Given the description of an element on the screen output the (x, y) to click on. 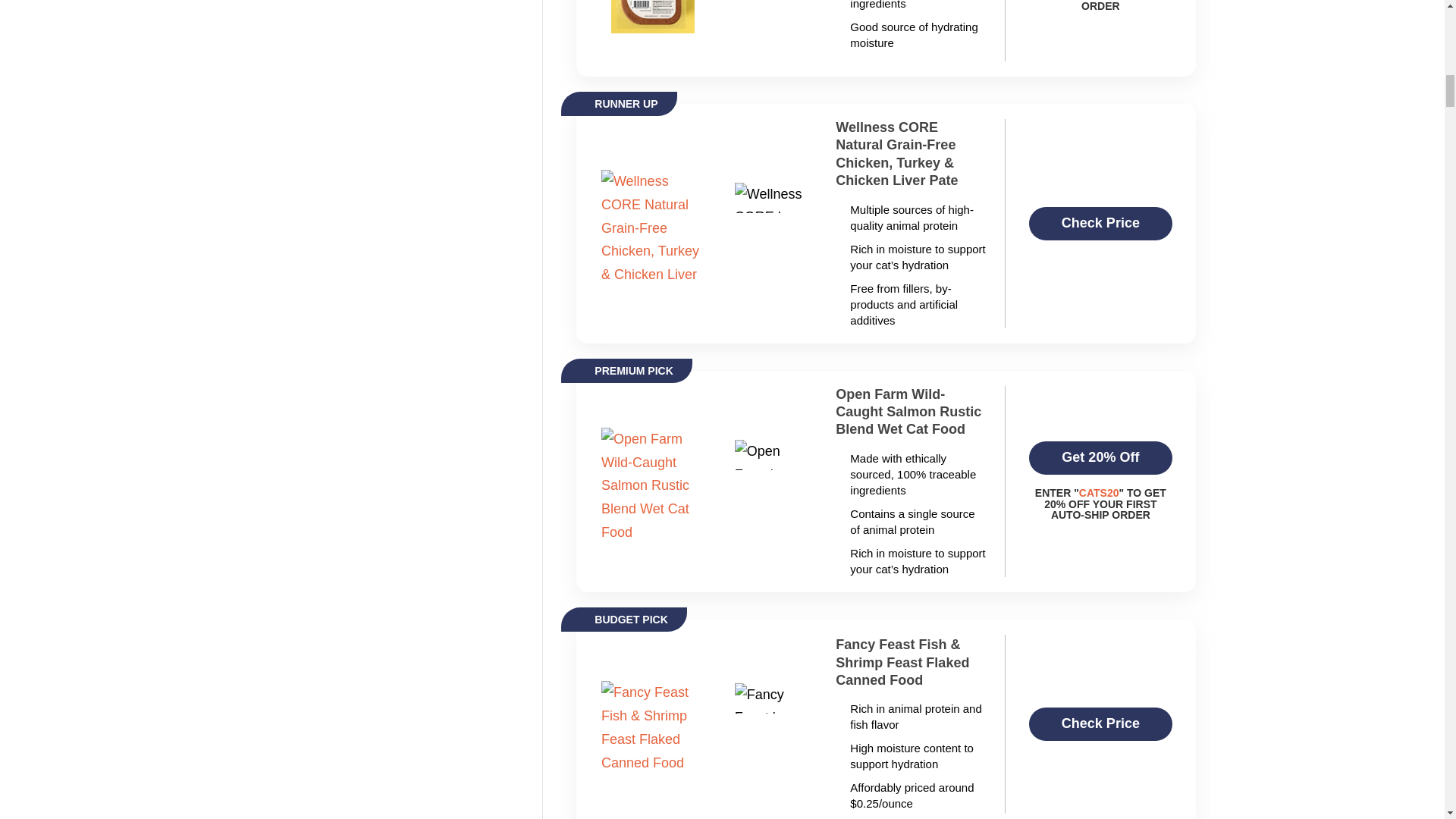
Fancy Feast (652, 724)
Open Farm (908, 411)
Open Farm (652, 481)
Open Farm (1100, 458)
Wellness CORE (652, 223)
Wellness CORE (1100, 223)
Smalls (652, 14)
Wellness CORE (908, 154)
